Given the description of an element on the screen output the (x, y) to click on. 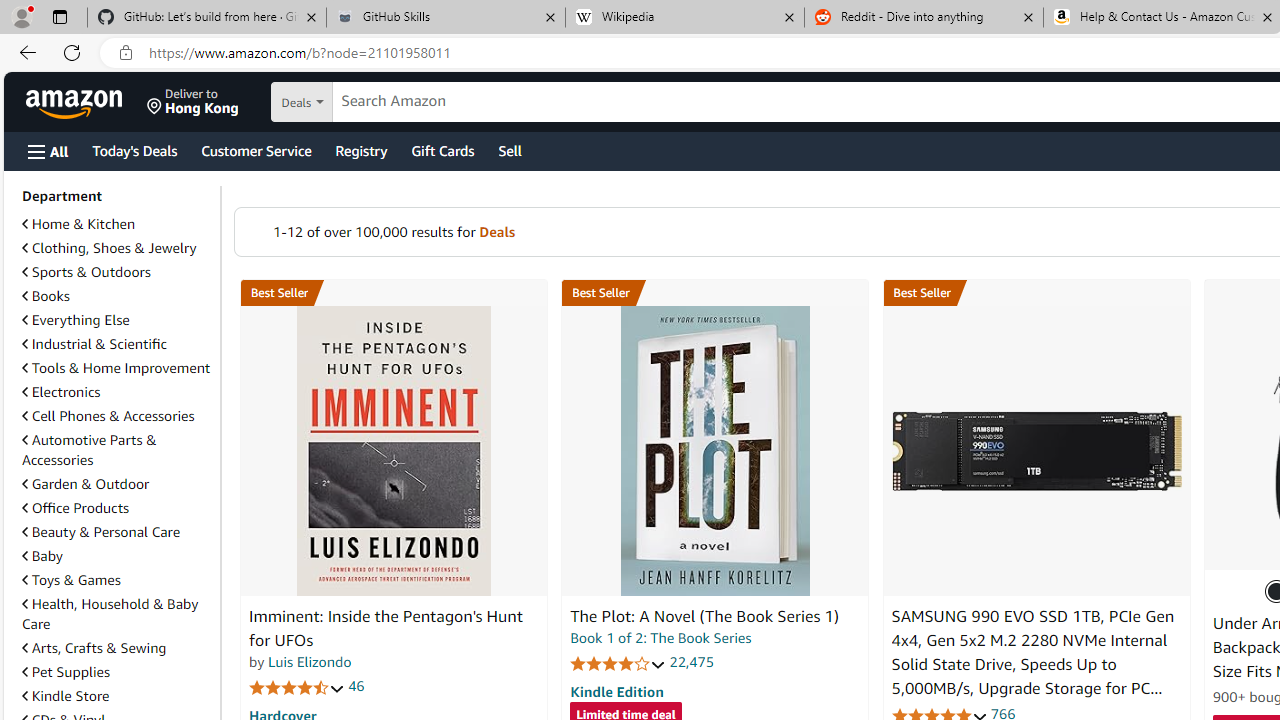
Pet Supplies (117, 671)
Home & Kitchen (117, 223)
Best Seller in Internal Solid State Drives (1036, 293)
Automotive Parts & Accessories (89, 449)
Kindle Edition (616, 691)
Book 1 of 2: The Book Series (660, 638)
Luis Elizondo (309, 662)
Today's Deals (134, 150)
Sports & Outdoors (86, 271)
The Plot: A Novel (The Book Series 1) (714, 451)
Beauty & Personal Care (117, 532)
